Given the description of an element on the screen output the (x, y) to click on. 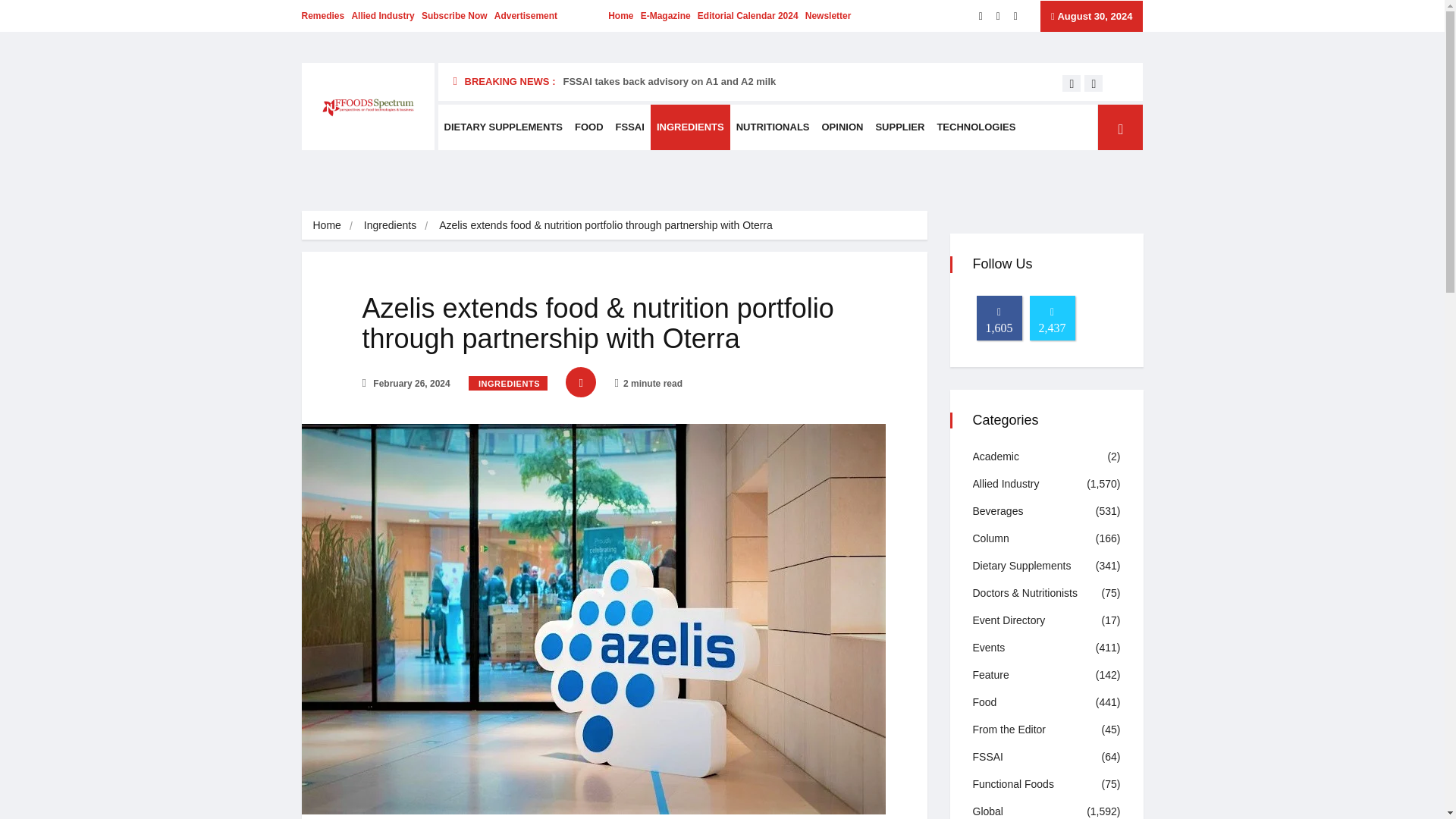
Remedies (323, 15)
NUTRITIONALS (772, 126)
INGREDIENTS (690, 126)
INGREDIENTS (507, 382)
Home (326, 224)
FSSAI takes back advisory on A1 and A2 milk (669, 81)
FOOD (589, 126)
Advertisement (526, 15)
Editorial Calendar 2024 (747, 15)
Ingredients (390, 224)
